Given the description of an element on the screen output the (x, y) to click on. 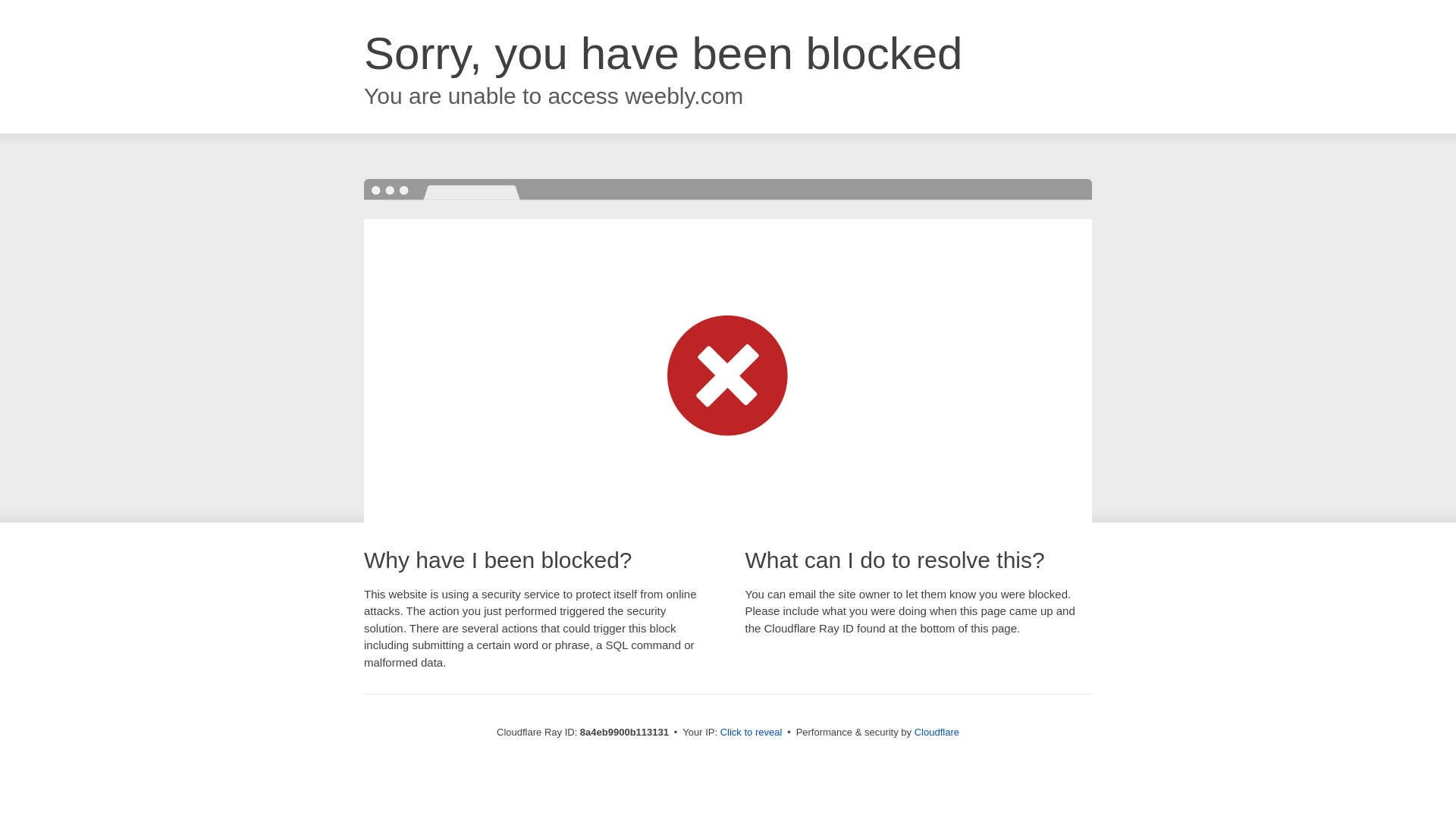
Click to reveal (751, 732)
Cloudflare (936, 731)
